Given the description of an element on the screen output the (x, y) to click on. 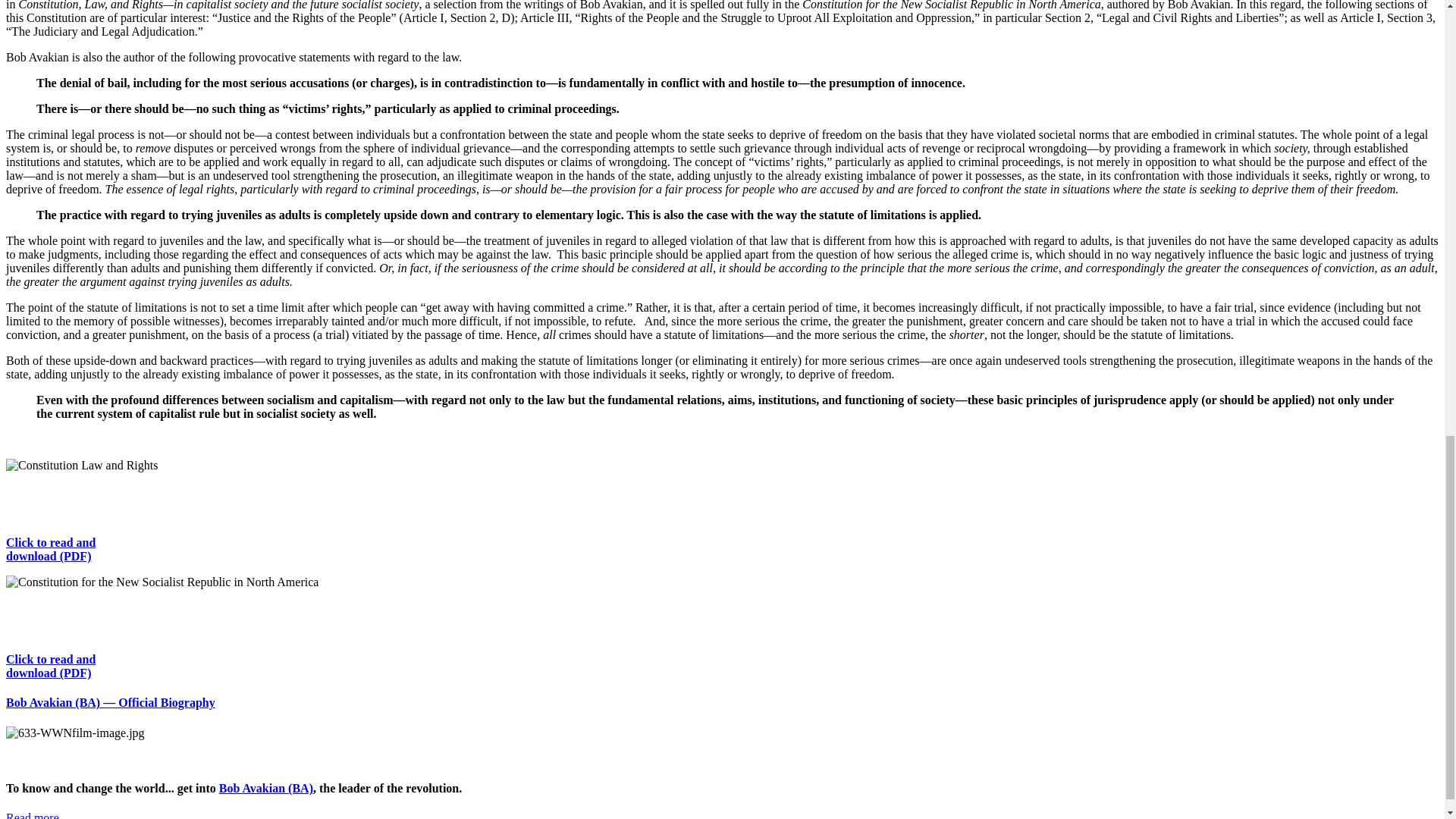
633-WWNfilm-image.jpg (74, 733)
